Given the description of an element on the screen output the (x, y) to click on. 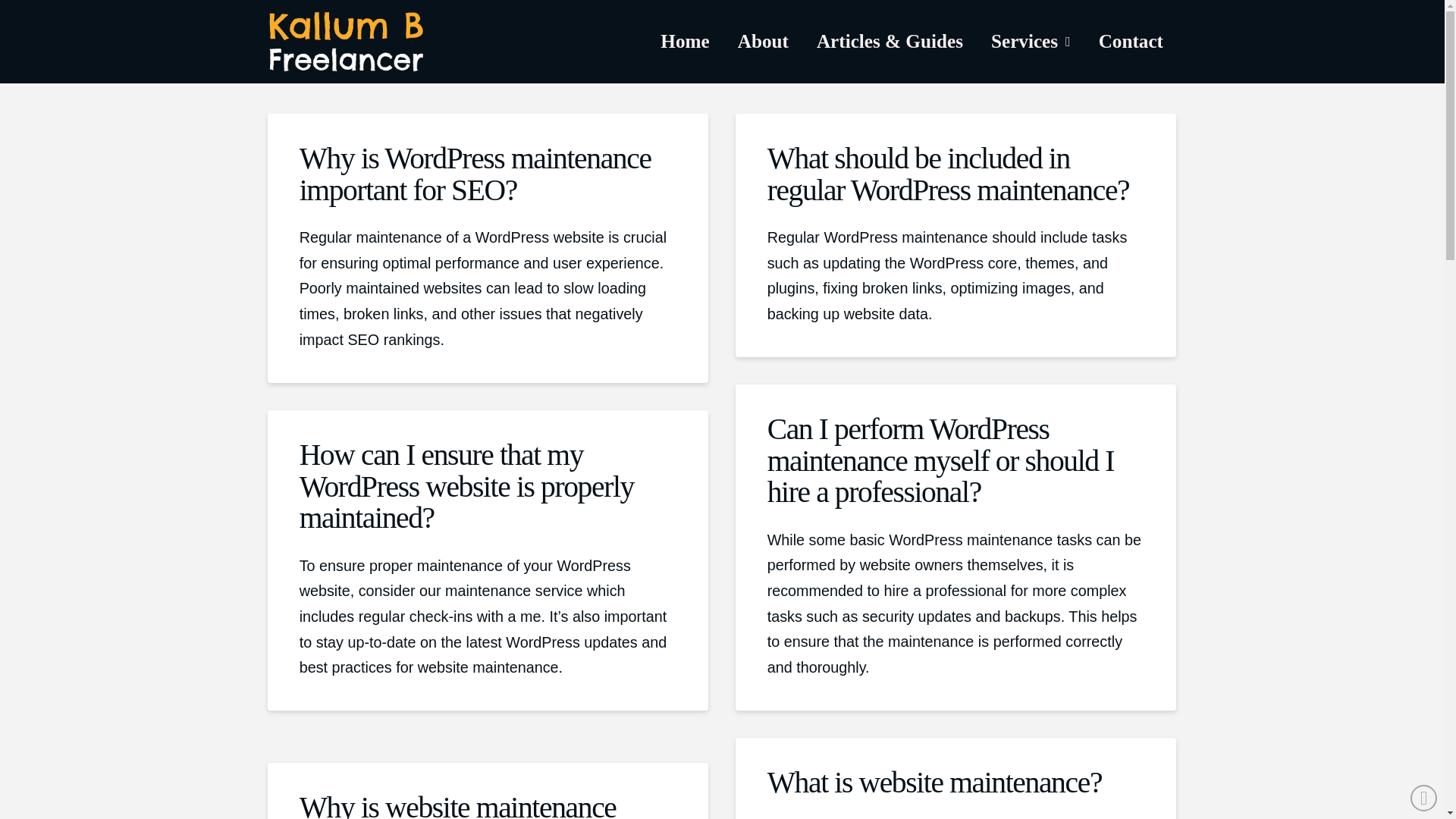
Why is WordPress maintenance important for SEO? (474, 174)
Why is website maintenance important? (457, 805)
Contact (1130, 41)
What should be included in regular WordPress maintenance? (948, 174)
Permalink to: "Why is website maintenance important?" (457, 805)
Services (1030, 41)
